Given the description of an element on the screen output the (x, y) to click on. 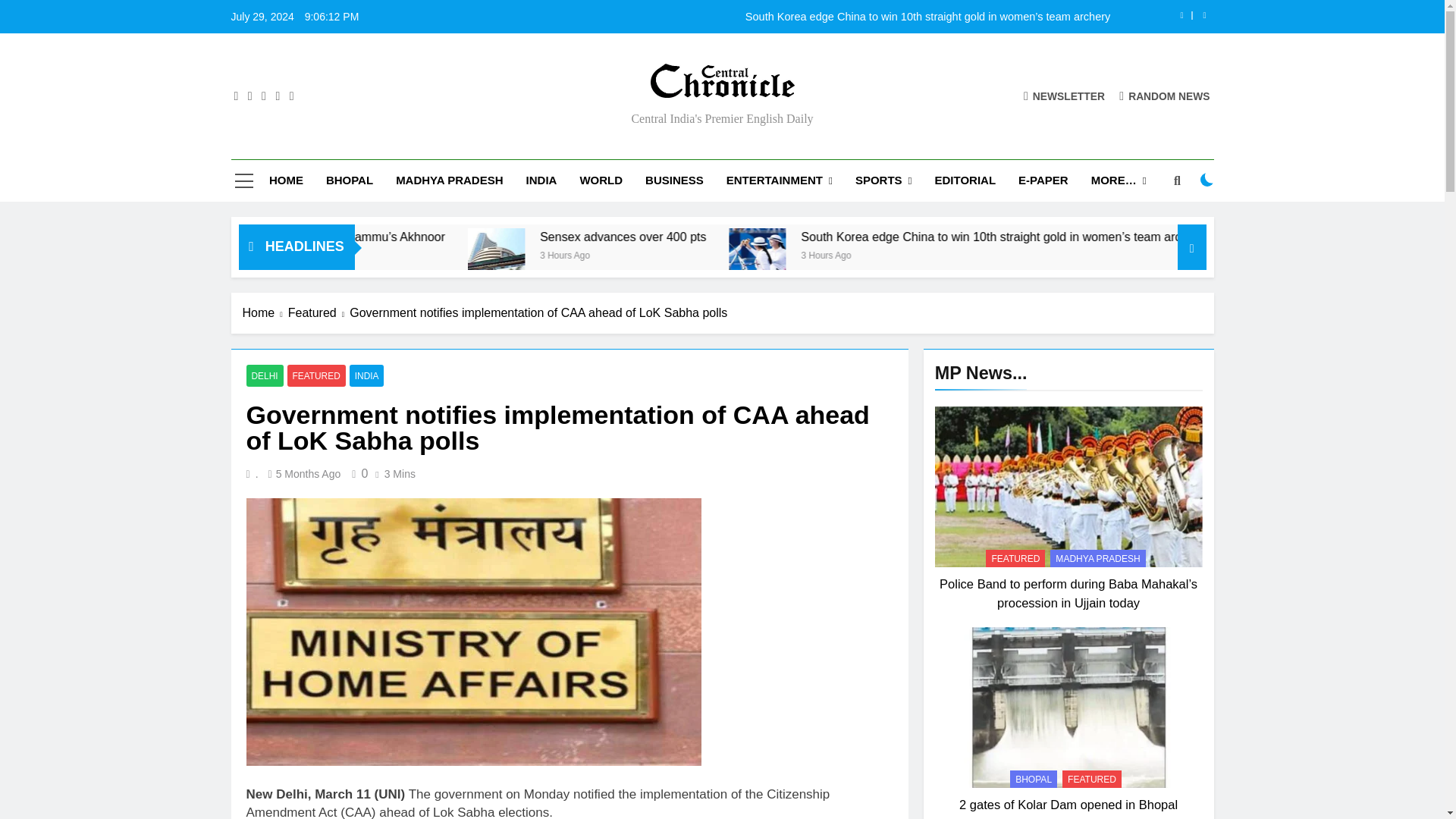
Sensex advances over 400 pts (649, 256)
INDIA (542, 179)
RANDOM NEWS (1164, 95)
SPORTS (883, 180)
MADHYA PRADESH (448, 179)
NEWSLETTER (1064, 95)
Sensex advances over 400 pts (772, 237)
WORLD (600, 179)
ENTERTAINMENT (779, 180)
BHOPAL (349, 179)
on (1206, 179)
HOME (285, 179)
Sensex advances over 400 pts (652, 256)
Central India'S Premier English Daily (560, 109)
BUSINESS (673, 179)
